Given the description of an element on the screen output the (x, y) to click on. 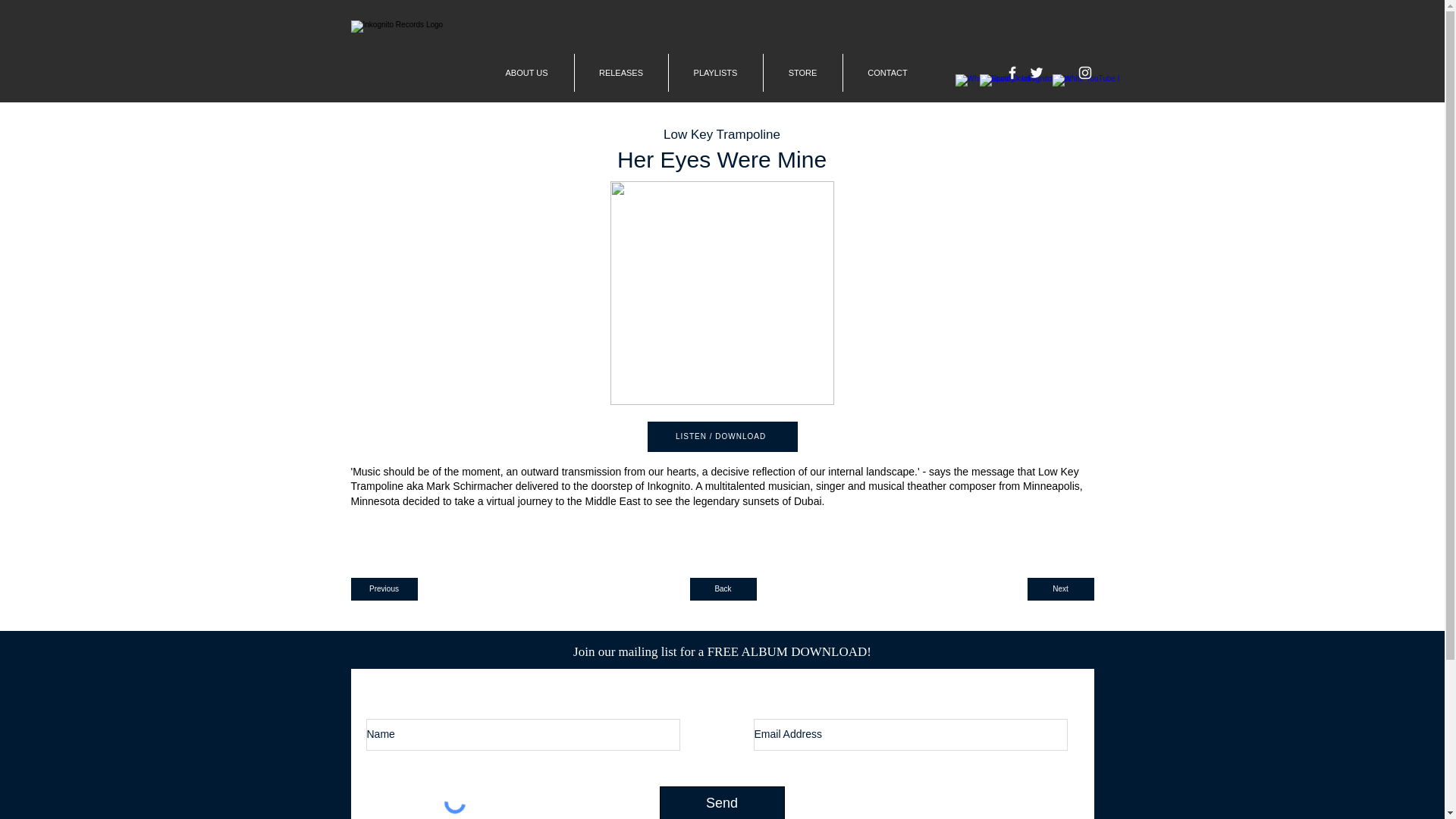
RELEASES (621, 72)
Previous (383, 589)
Back (723, 589)
STORE (801, 72)
PLAYLISTS (715, 72)
CONTACT (888, 72)
ABOUT US (526, 72)
Send (721, 802)
Next (1059, 589)
